Given the description of an element on the screen output the (x, y) to click on. 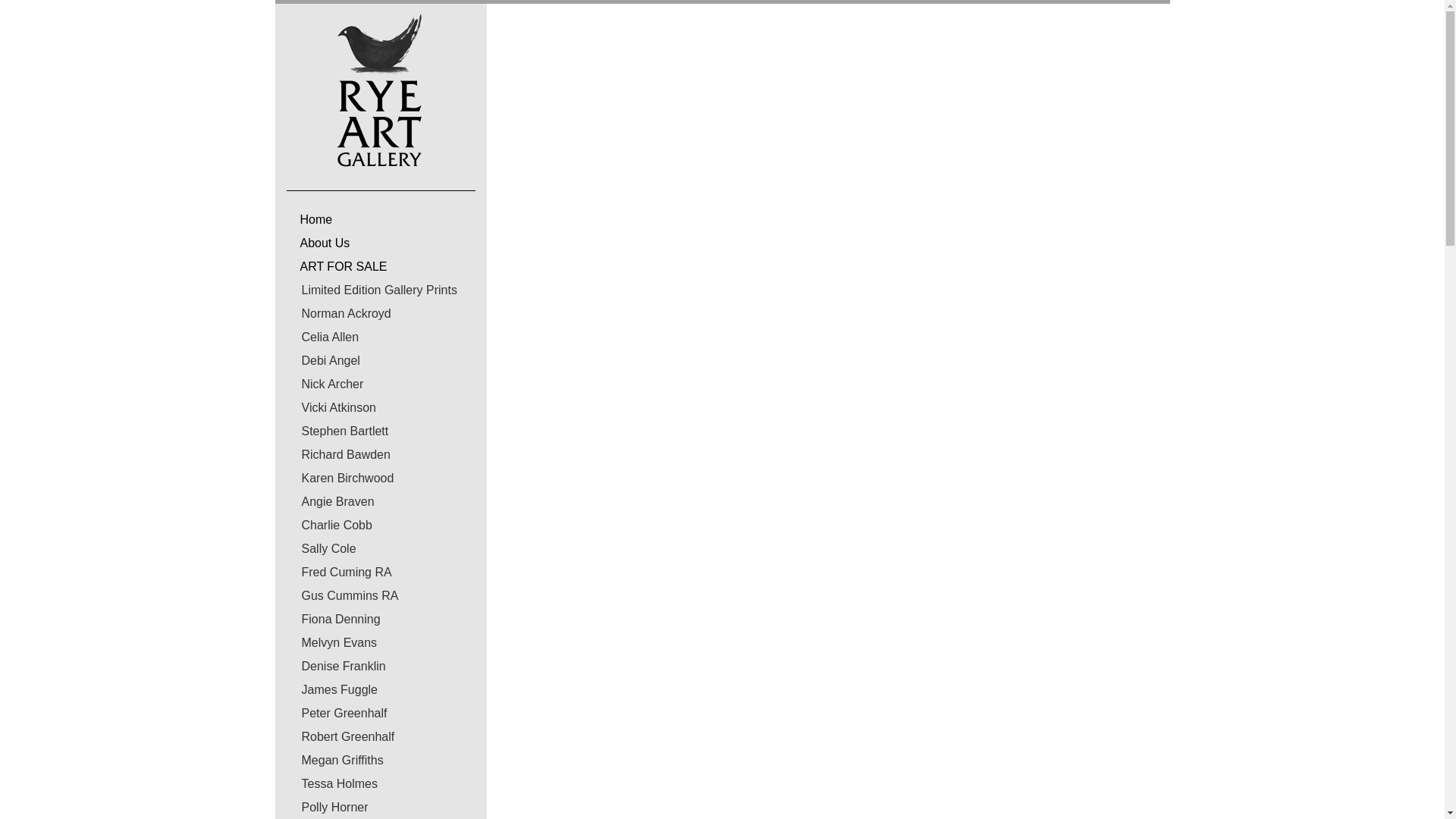
Stephen Bartlett (337, 431)
Debi Angel (322, 359)
Fred Cuming RA (338, 571)
Polly Horner (327, 807)
Celia Allen (322, 336)
Robert Greenhalf (340, 736)
Richard Bawden (338, 454)
Melvyn Evans (331, 642)
Denise Franklin (335, 666)
Charlie Cobb (329, 524)
